Given the description of an element on the screen output the (x, y) to click on. 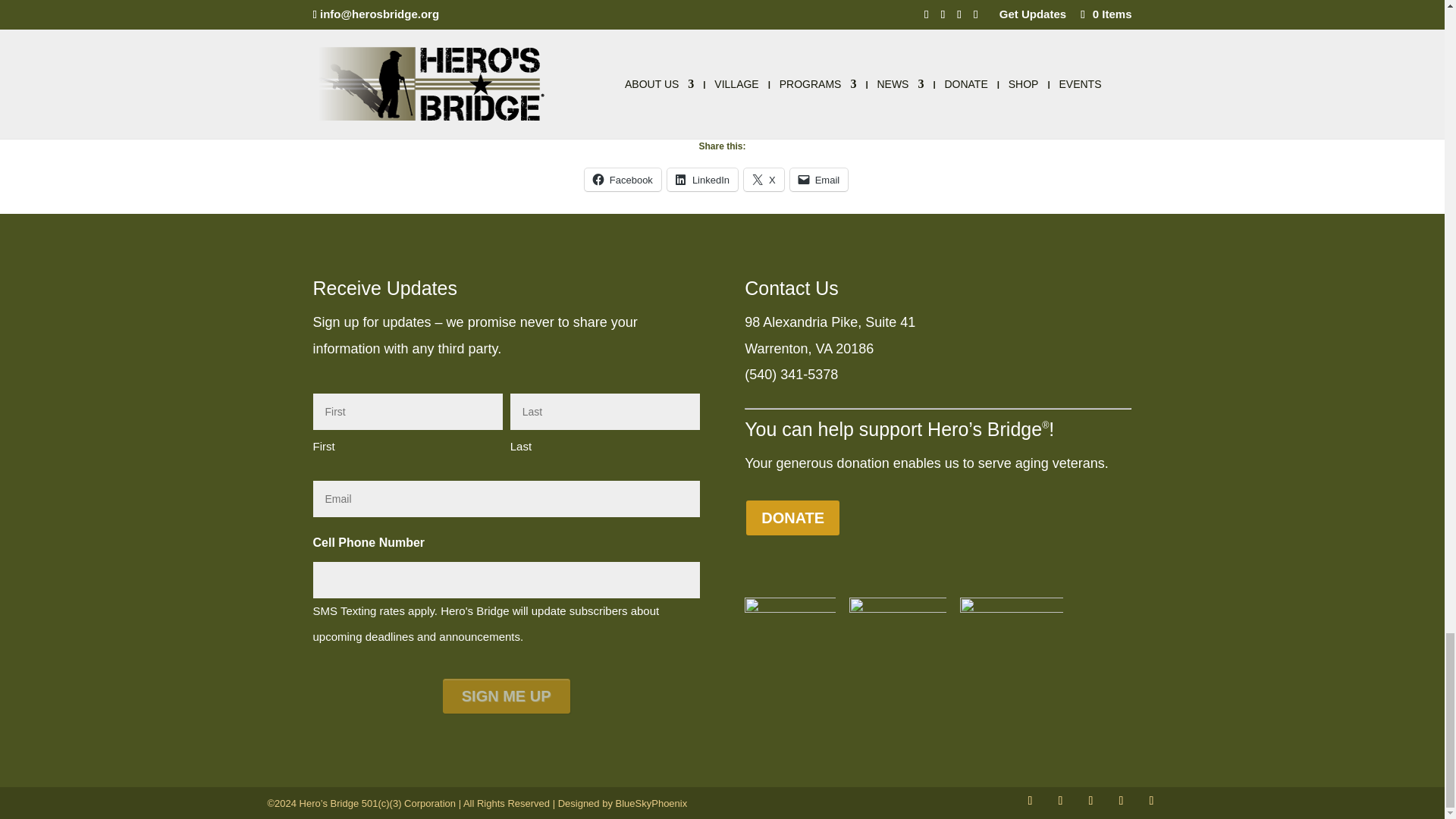
V3-Sealxsized (897, 645)
Follow on X (1059, 800)
candid-seal-platinum-2024 (789, 642)
Click to share on X (764, 179)
Follow on Instagram (1090, 800)
Follow on Facebook (1029, 800)
Click to email a link to a friend (819, 179)
Click to share on LinkedIn (702, 179)
Follow on RSS (1120, 800)
Click to share on Facebook (623, 179)
dementia-friendly-at-logo-combined-9-5-23 (1010, 649)
